Given the description of an element on the screen output the (x, y) to click on. 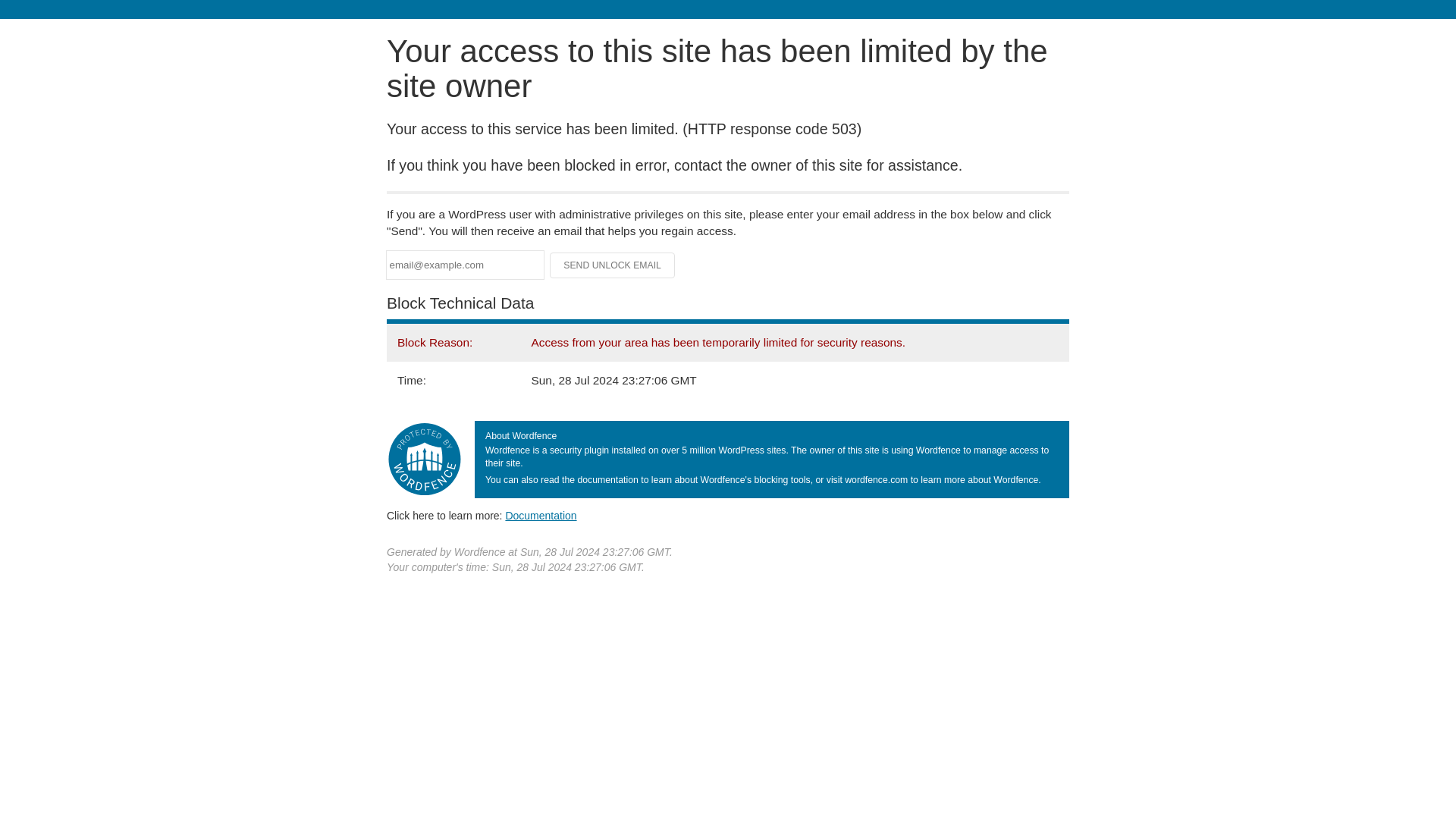
Send Unlock Email (612, 265)
Send Unlock Email (612, 265)
Documentation (540, 515)
